Given the description of an element on the screen output the (x, y) to click on. 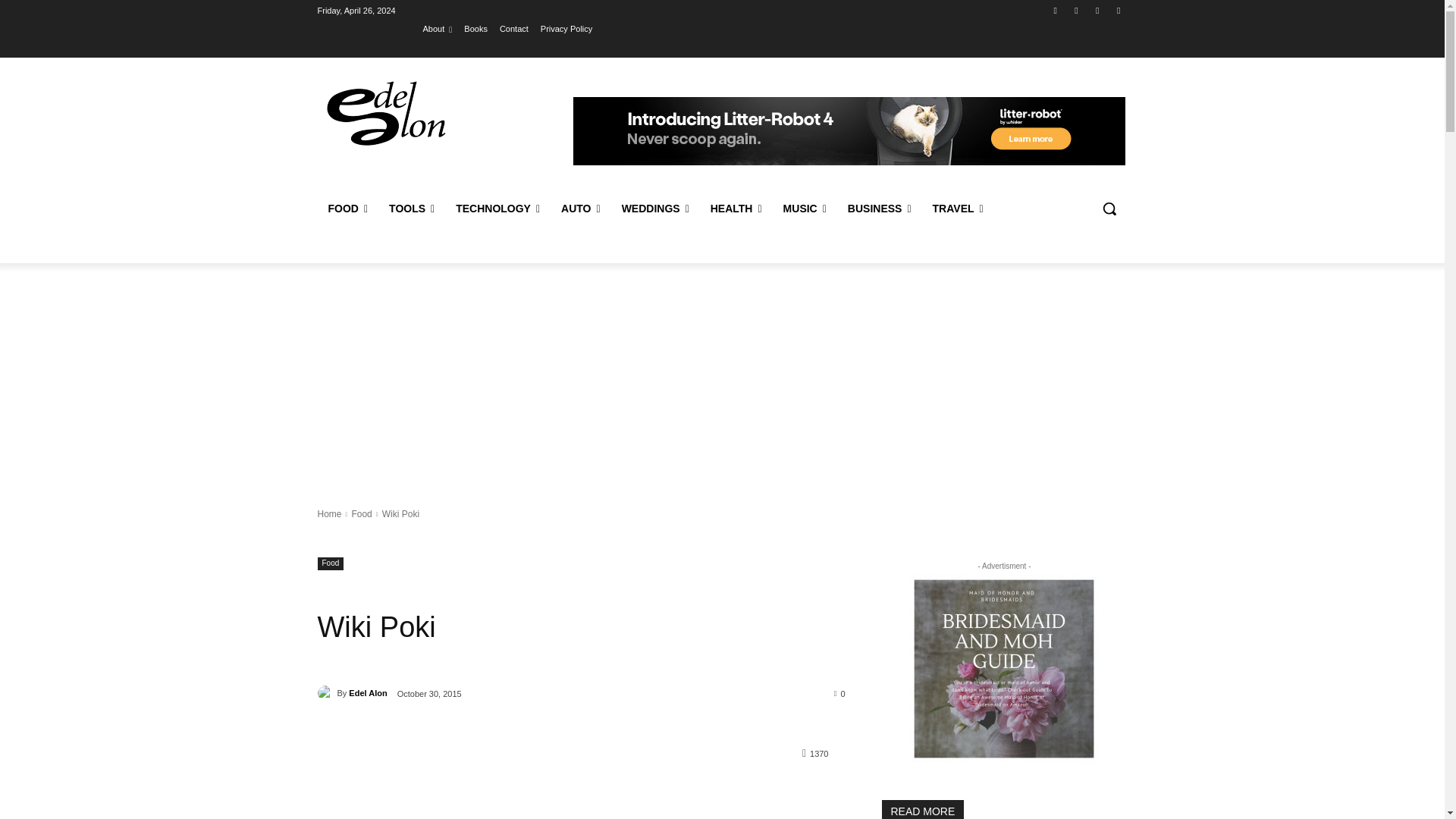
FOOD (347, 208)
728x90 (849, 131)
Facebook (1055, 9)
About (437, 28)
Contact (513, 28)
Privacy Policy (566, 28)
Youtube (1117, 9)
Books (475, 28)
Twitter (1097, 9)
Instagram (1075, 9)
